Given the description of an element on the screen output the (x, y) to click on. 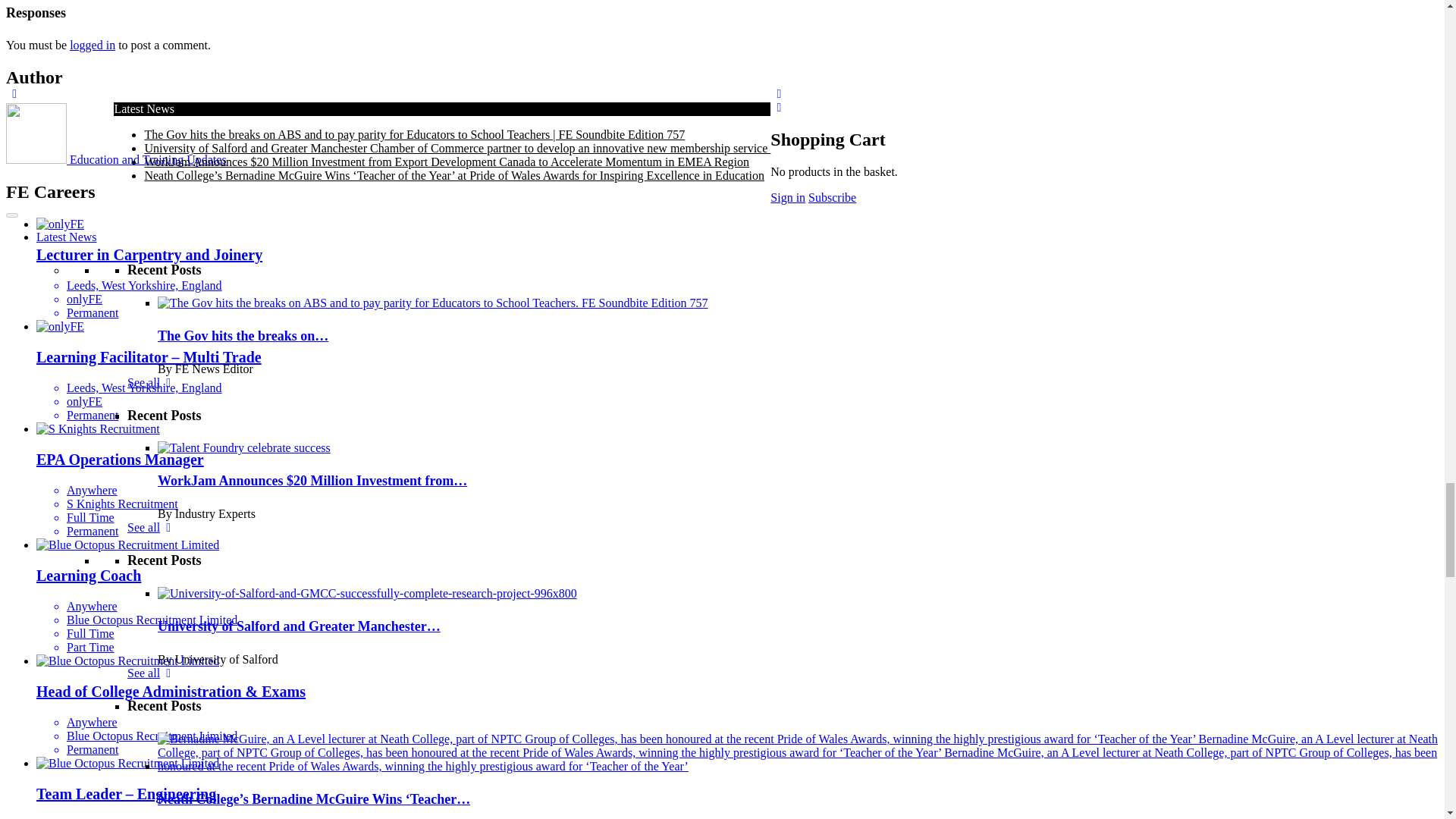
Permalink to Skilfully Speaking (393, 814)
